Given the description of an element on the screen output the (x, y) to click on. 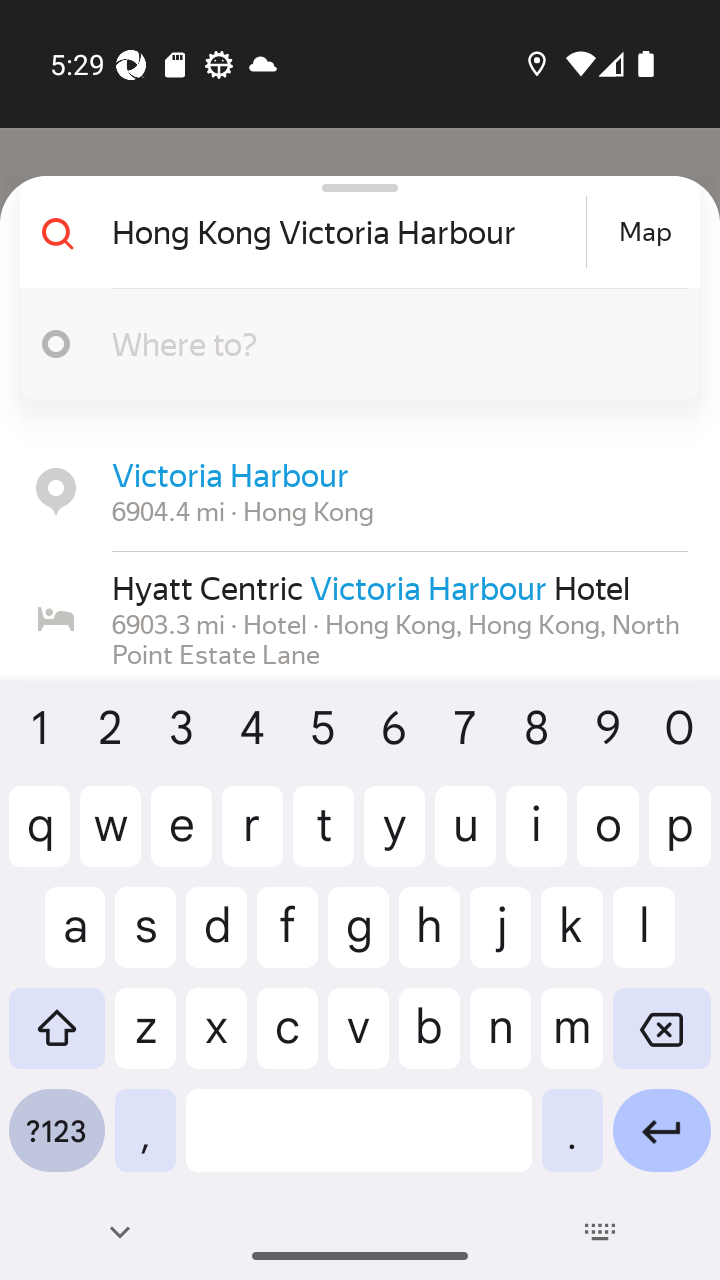
Hong Kong Victoria Harbour Map Map (352, 232)
Map (645, 232)
Hong Kong Victoria Harbour (346, 232)
Where to? (352, 343)
Where to? (390, 343)
